Given the description of an element on the screen output the (x, y) to click on. 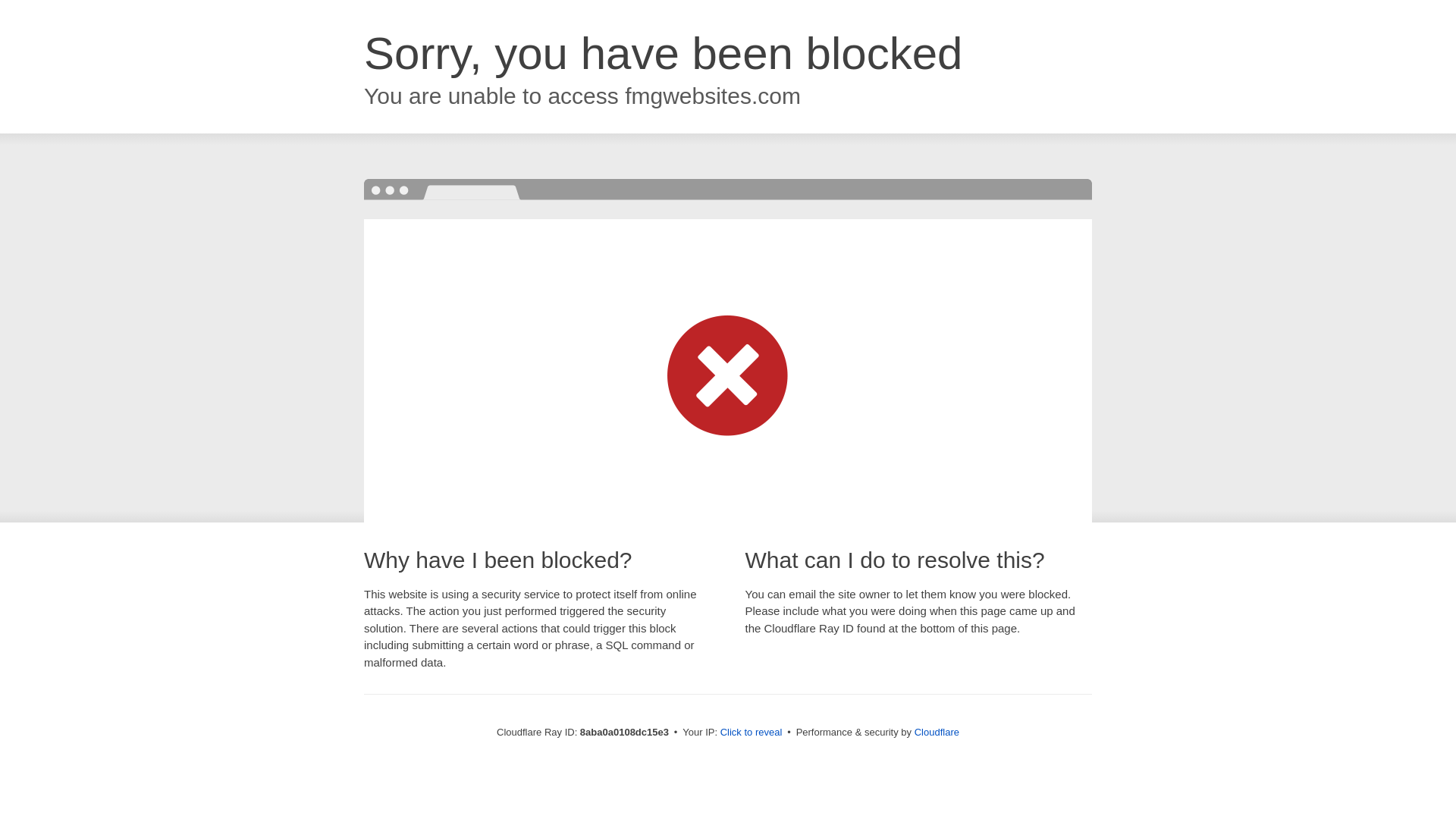
Cloudflare (936, 731)
Click to reveal (751, 732)
